Given the description of an element on the screen output the (x, y) to click on. 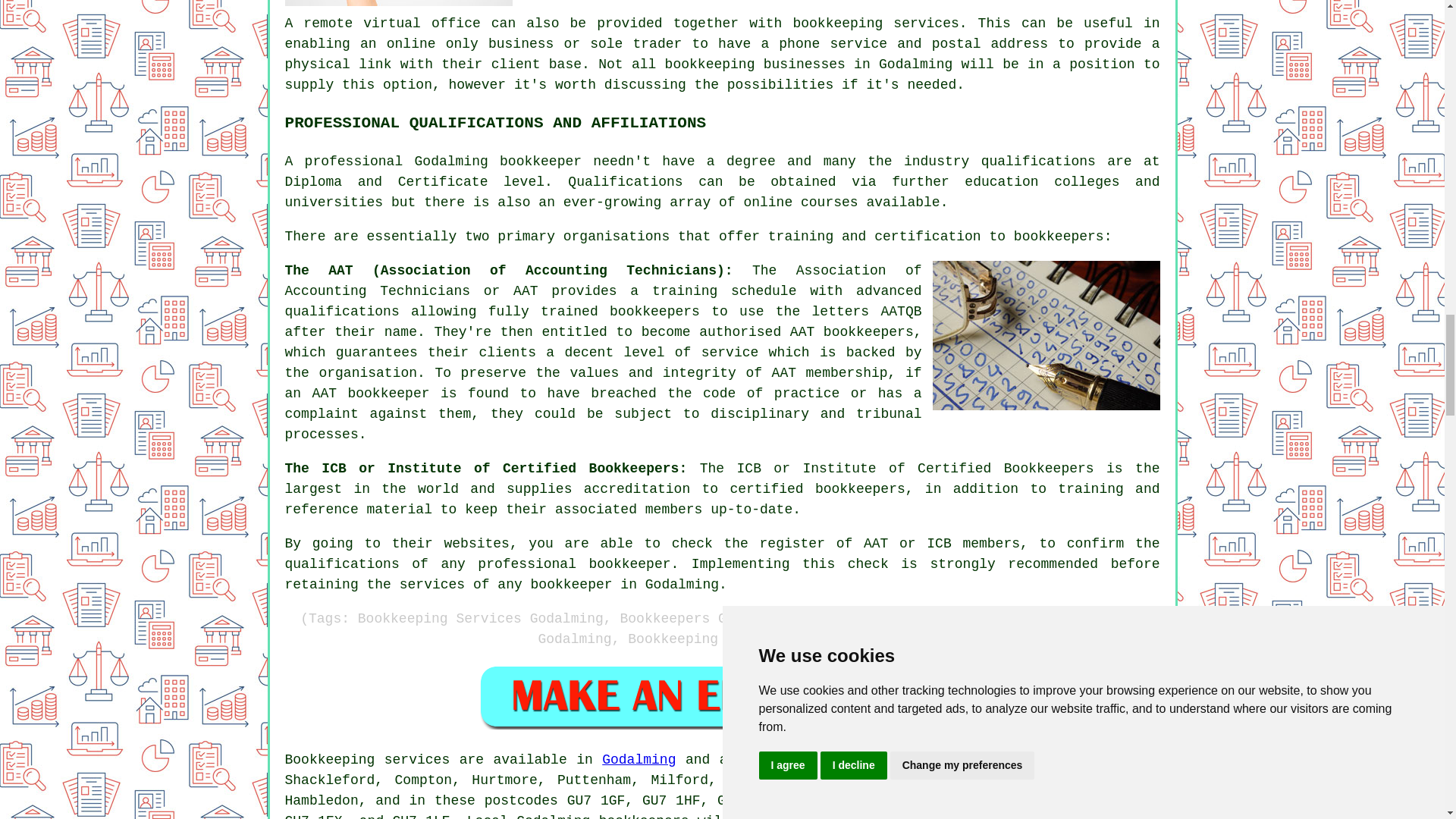
Bookkeeping services (367, 759)
bookkeepers (643, 816)
Book Bookkeeper in Godalming UK (722, 696)
Bookkeeping Services Godalming (398, 2)
